Given the description of an element on the screen output the (x, y) to click on. 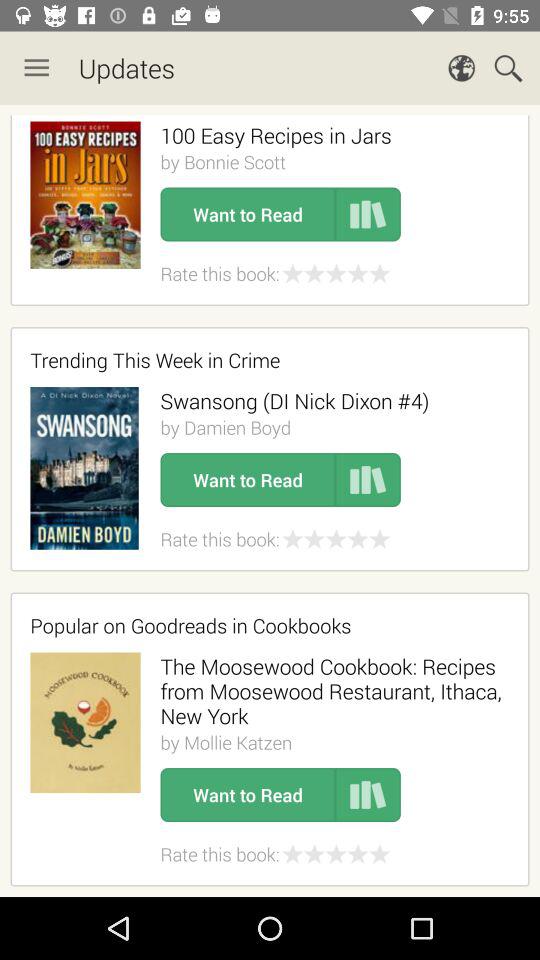
turn off the item below swansong di nick (225, 427)
